Given the description of an element on the screen output the (x, y) to click on. 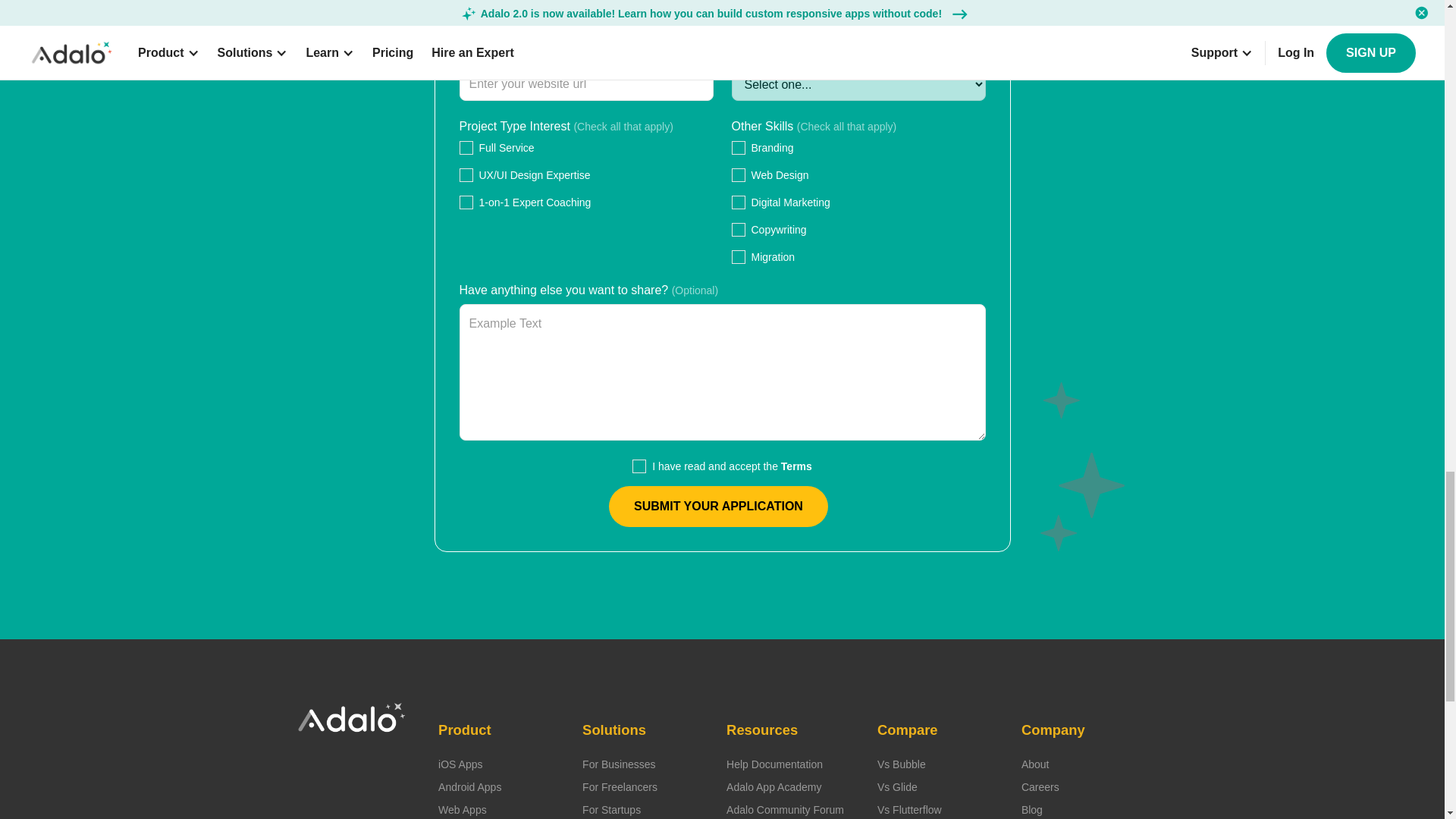
Submit your application (718, 506)
Submit your application (718, 506)
Terms (796, 466)
